Given the description of an element on the screen output the (x, y) to click on. 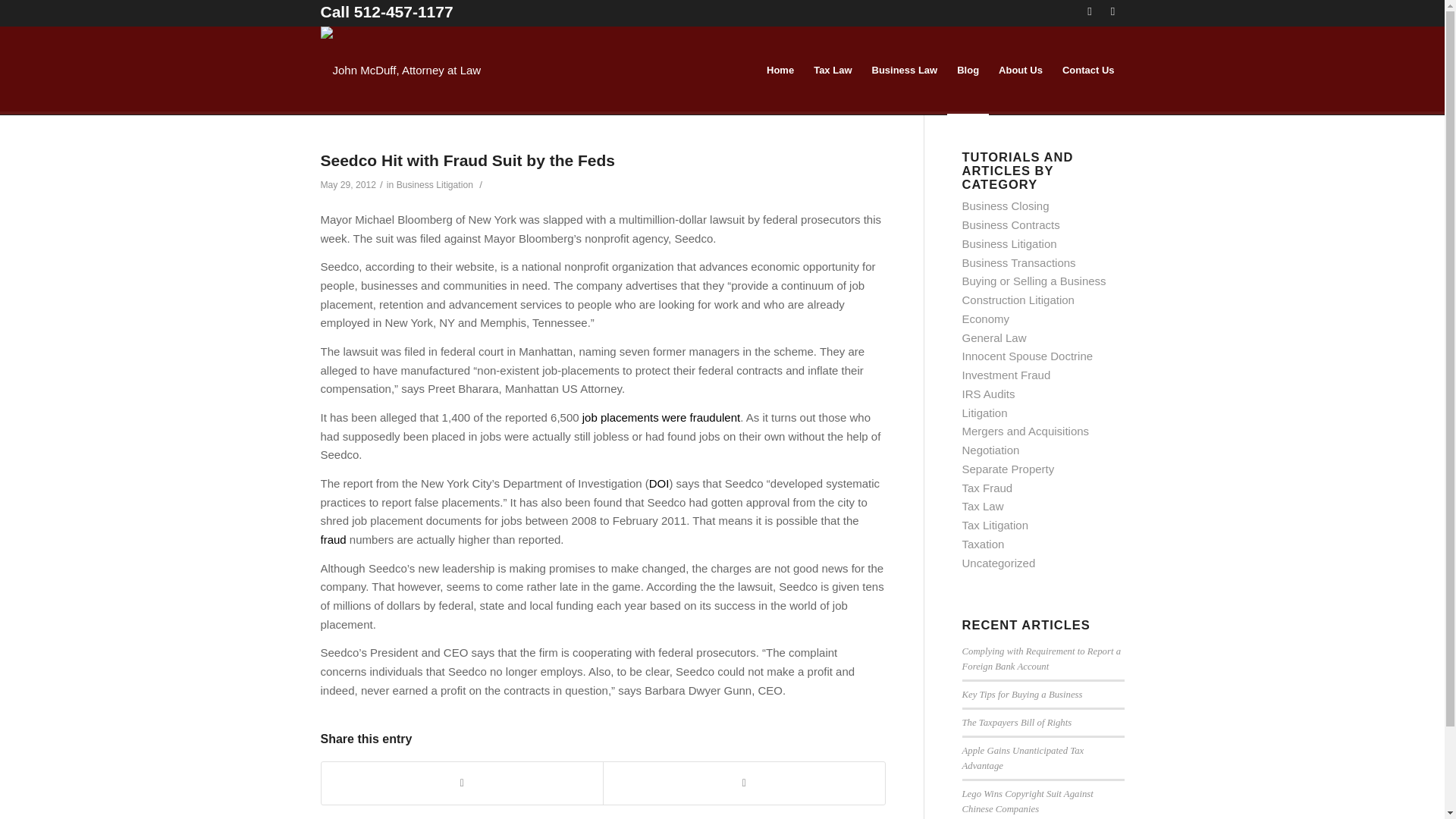
Call 512-457-1177 (386, 11)
Seedco Hit with Fraud Suit by the Feds (467, 159)
DOI (659, 482)
Linkedin (1089, 11)
job placements were fraudulent (660, 417)
Business Litigation (434, 184)
Business Law (904, 70)
Youtube (1112, 11)
Permanent Link: Seedco Hit with Fraud Suit by the Feds (467, 159)
